Given the description of an element on the screen output the (x, y) to click on. 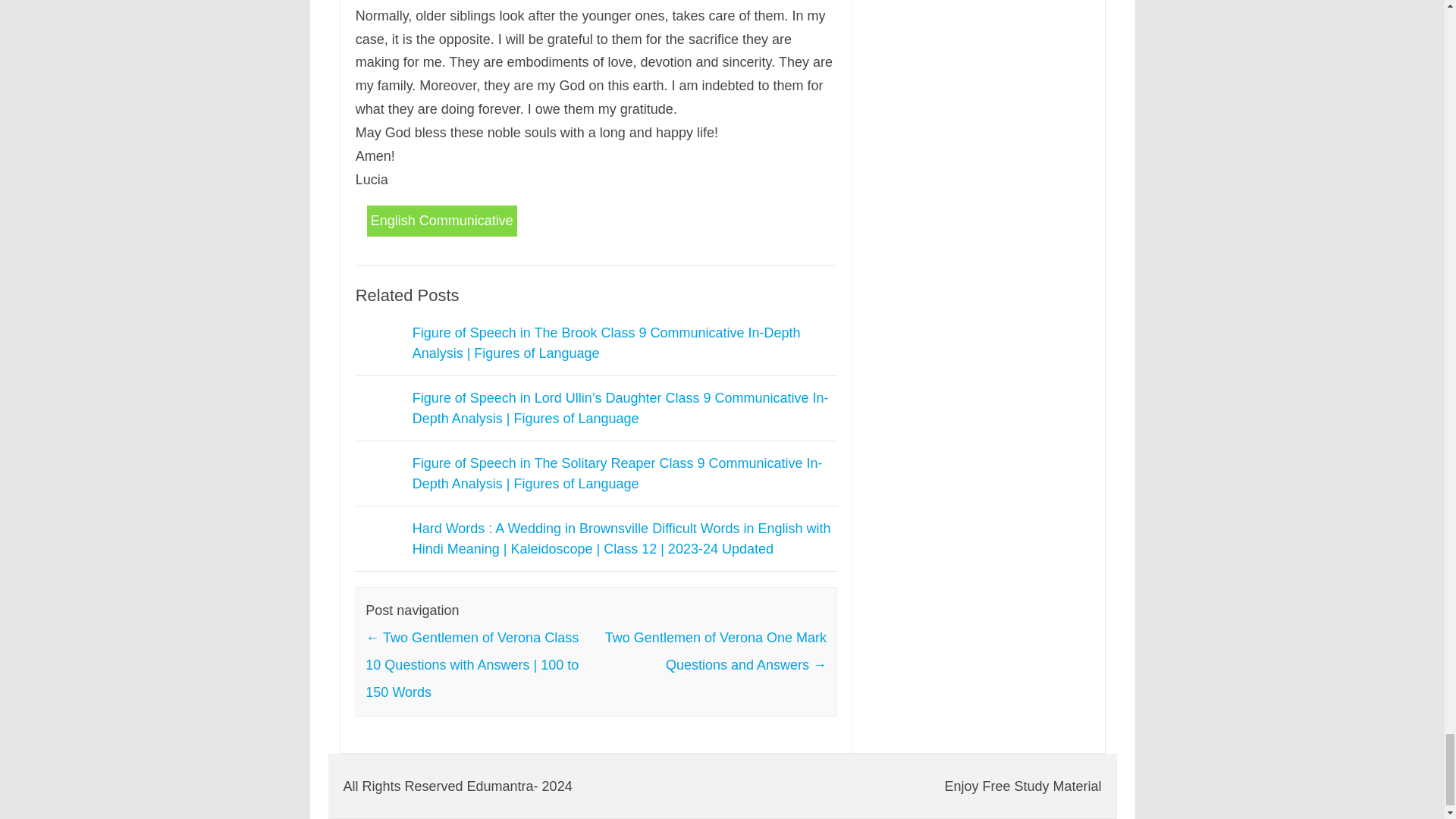
English Communicative (441, 220)
